Given the description of an element on the screen output the (x, y) to click on. 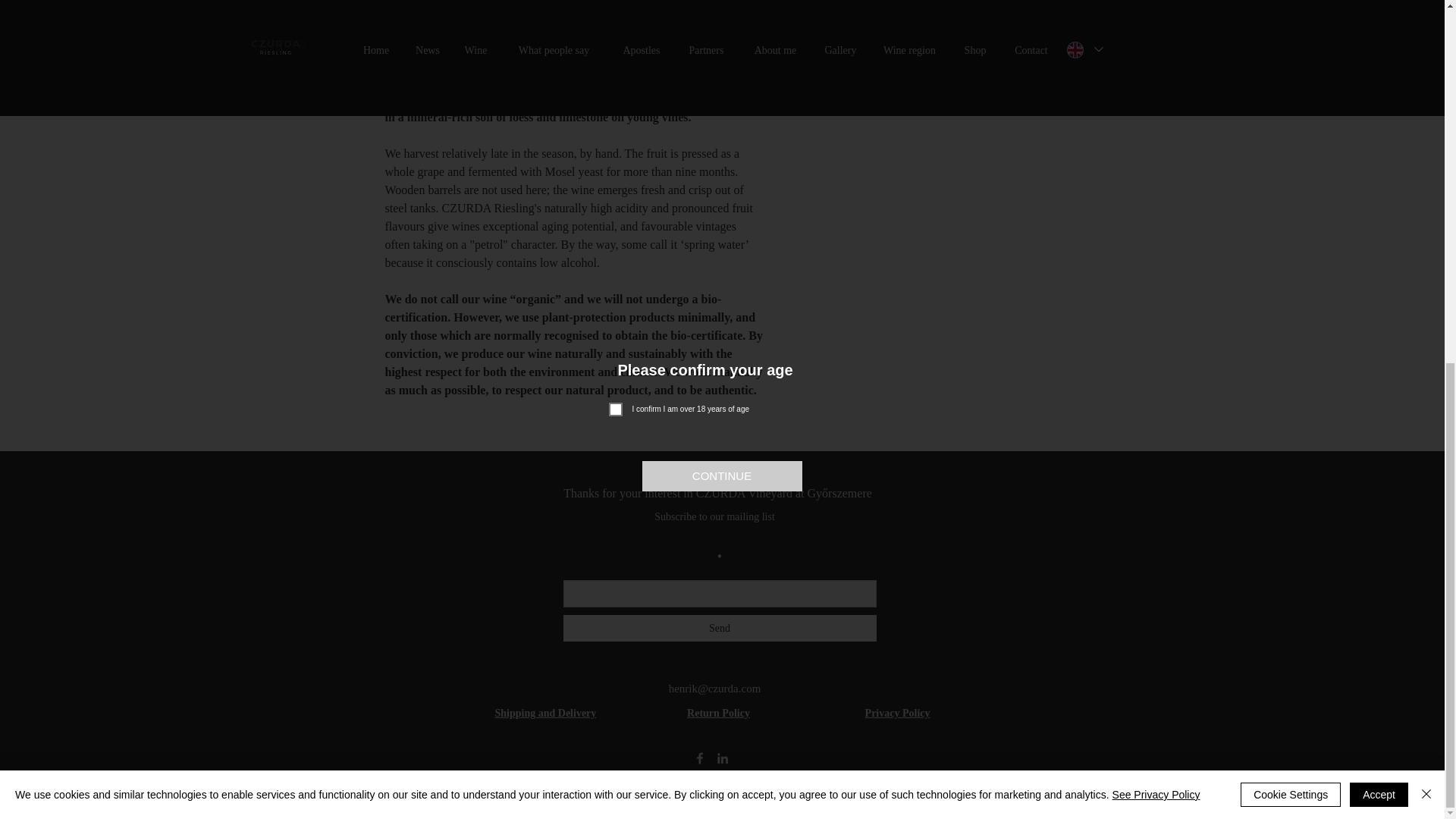
Cookie Settings (1290, 146)
Return Policy (718, 713)
Send (719, 628)
Subscribe to our mailing list (713, 516)
Shipping and Delivery (545, 713)
Privacy Policy (897, 712)
See Privacy Policy (1155, 146)
Accept (1378, 146)
